Given the description of an element on the screen output the (x, y) to click on. 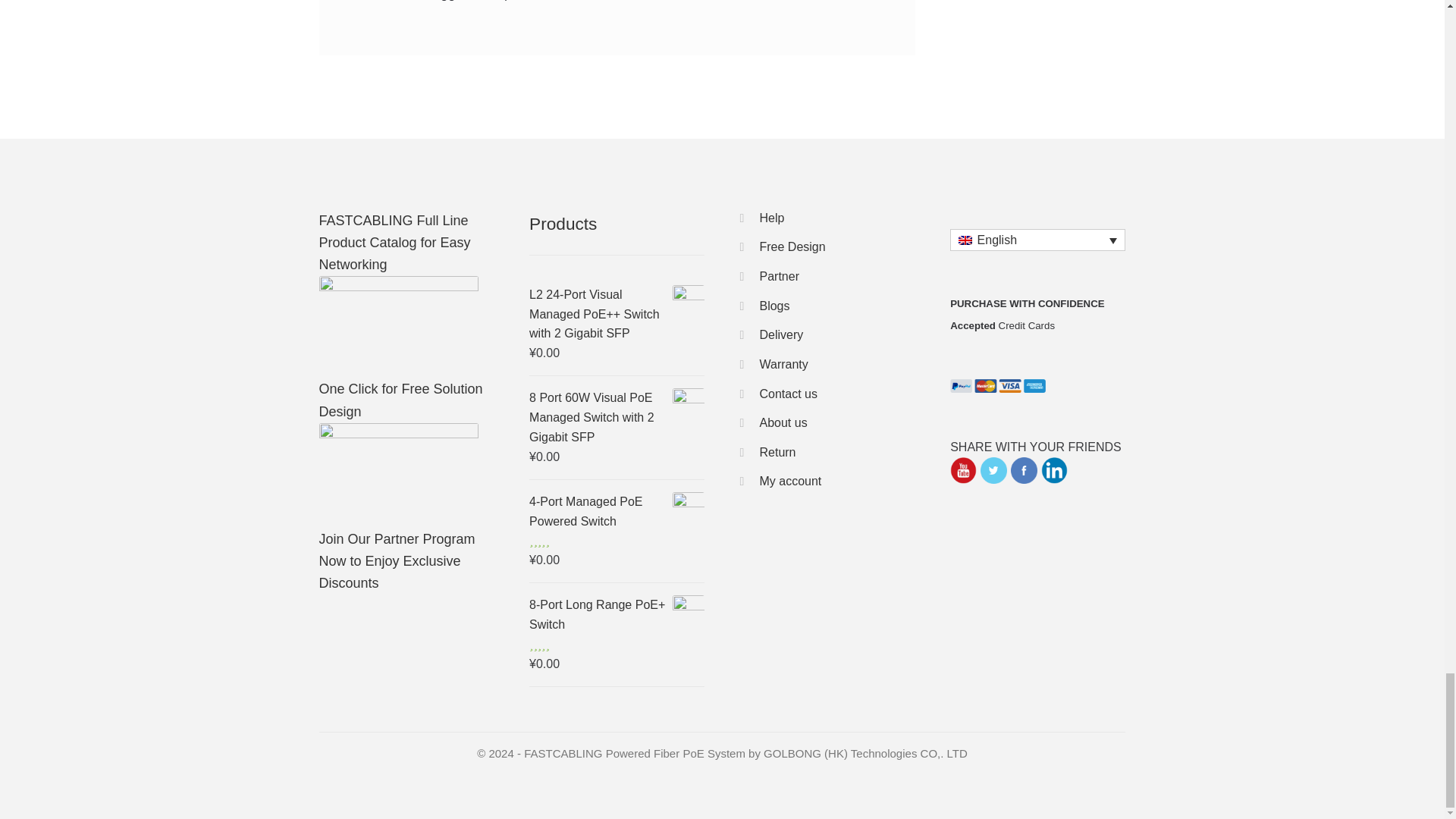
Facebook (1023, 470)
Twitter (993, 470)
Linkedin (1054, 470)
Youtube (963, 470)
